Given the description of an element on the screen output the (x, y) to click on. 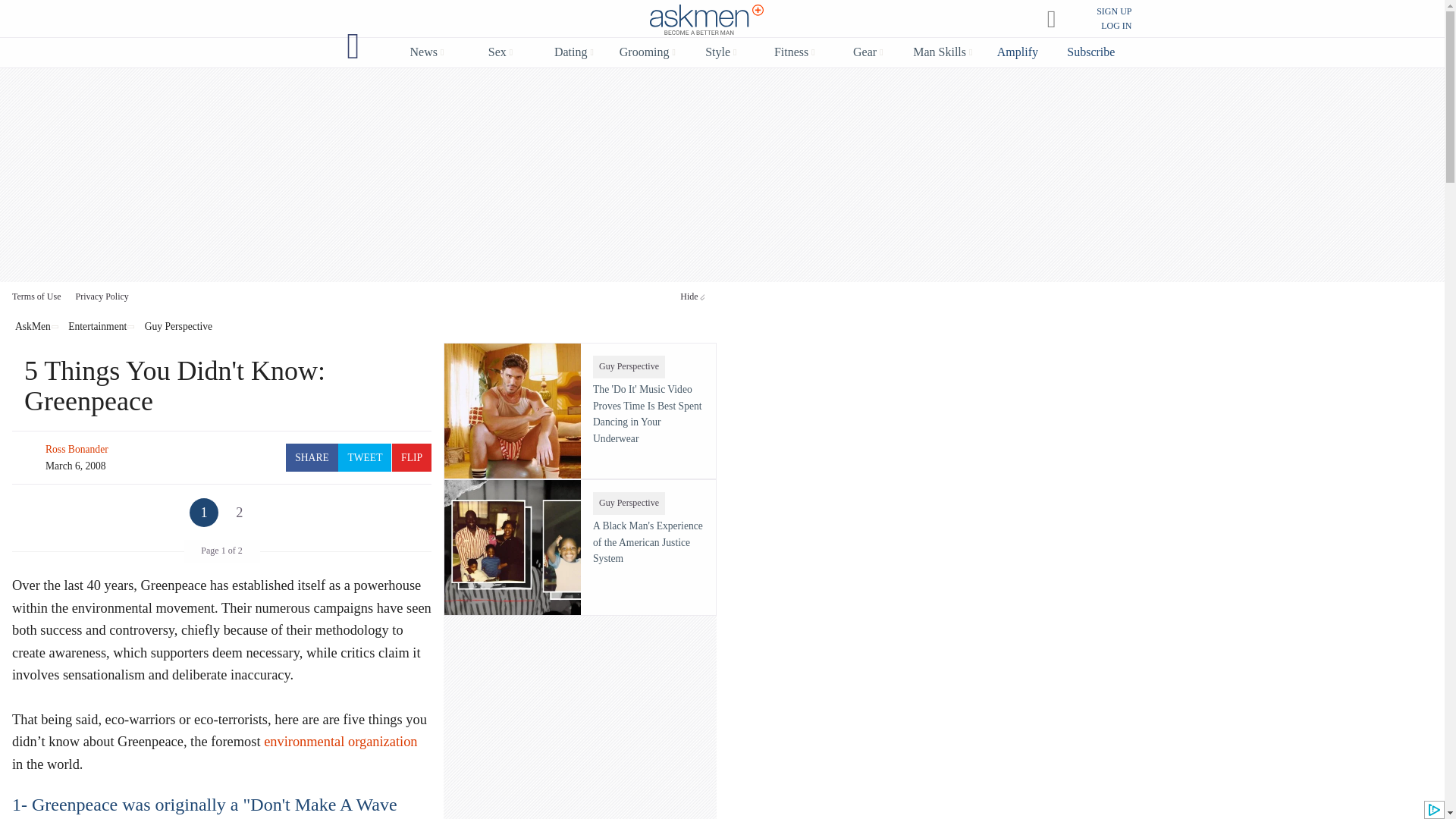
LOG IN (1115, 25)
AskMen (706, 20)
GuyQ (352, 45)
SIGN UP (1113, 11)
